Given the description of an element on the screen output the (x, y) to click on. 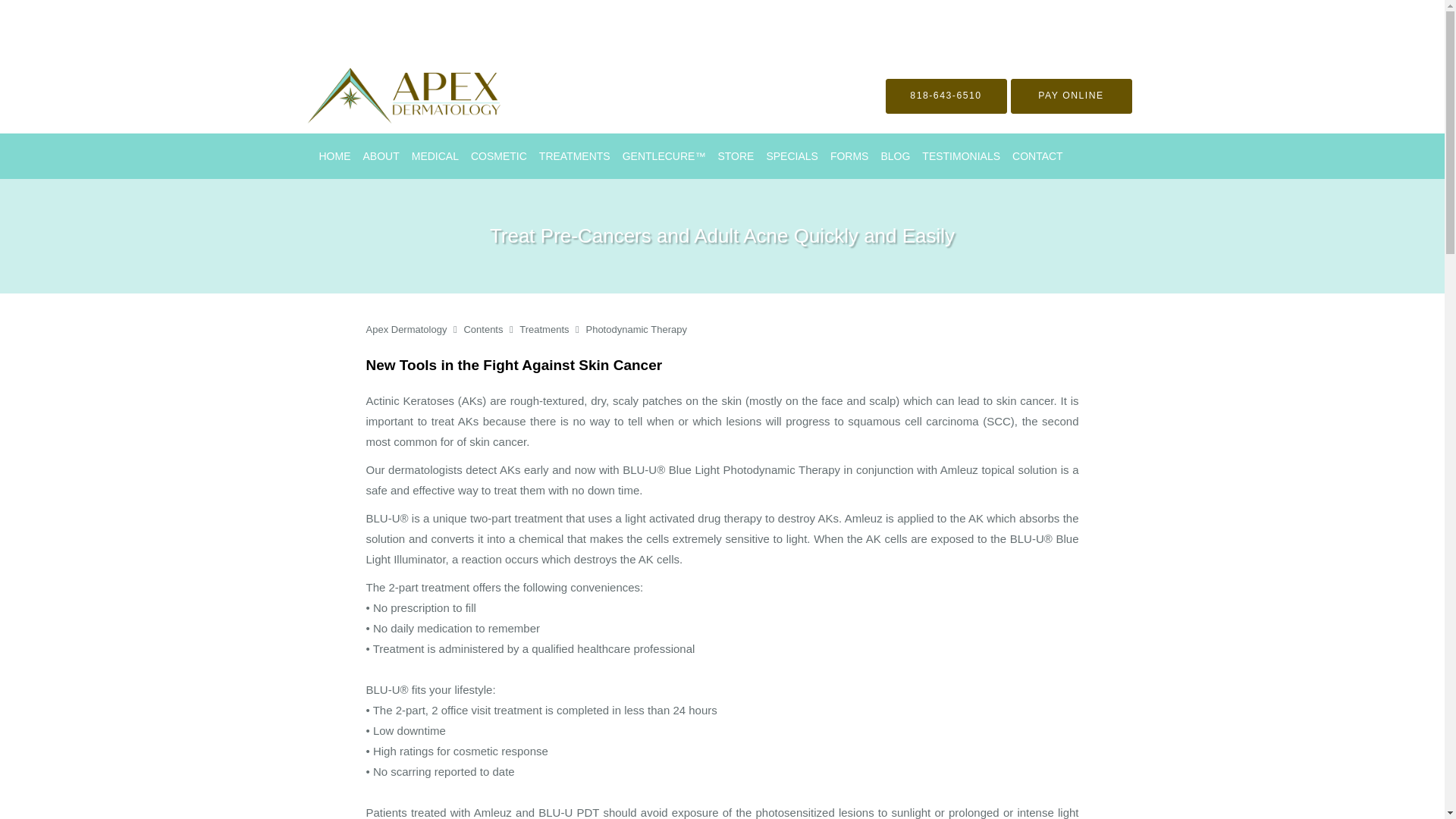
ABOUT (380, 156)
TREATMENTS (573, 156)
818-643-6510 (946, 95)
MEDICAL (435, 156)
HOME (334, 156)
PAY ONLINE (1070, 95)
COSMETIC (498, 156)
